Given the description of an element on the screen output the (x, y) to click on. 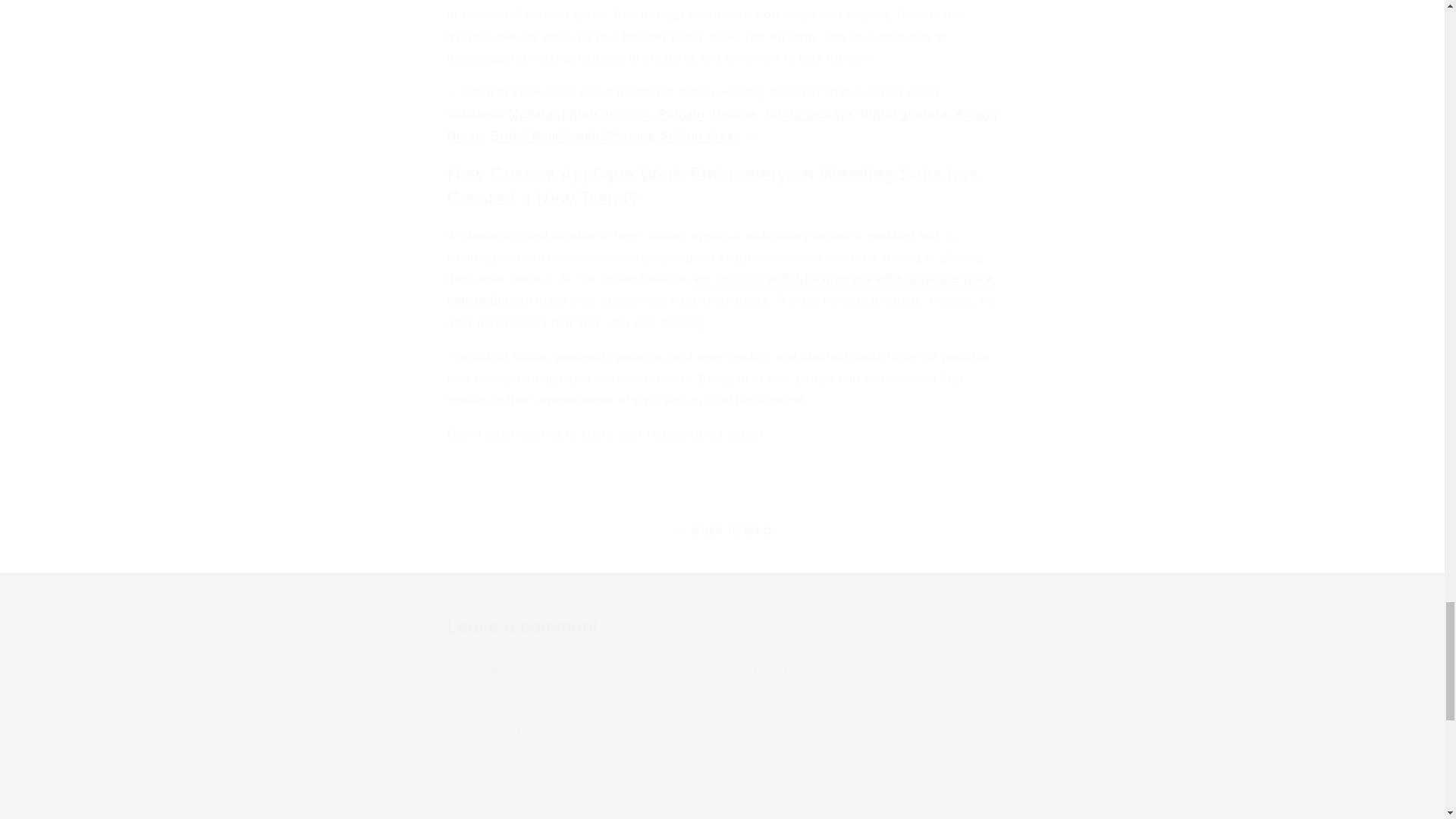
All about assam traditional dress (721, 124)
All about Bridal Kamkhwab Gharara (571, 135)
Learn more about traditional Maharashtrian wedding dresses  (552, 113)
Everything you need to know about traditional Sikkim dress (698, 135)
Everything about Traditional Punjabi Wedding Dress (681, 113)
Everything About Farshi Gharara (808, 113)
Learn more about traditional Maharashtrian wedding dresses  (623, 113)
Everything you need to know about bridal farshi gharara (903, 113)
